Given the description of an element on the screen output the (x, y) to click on. 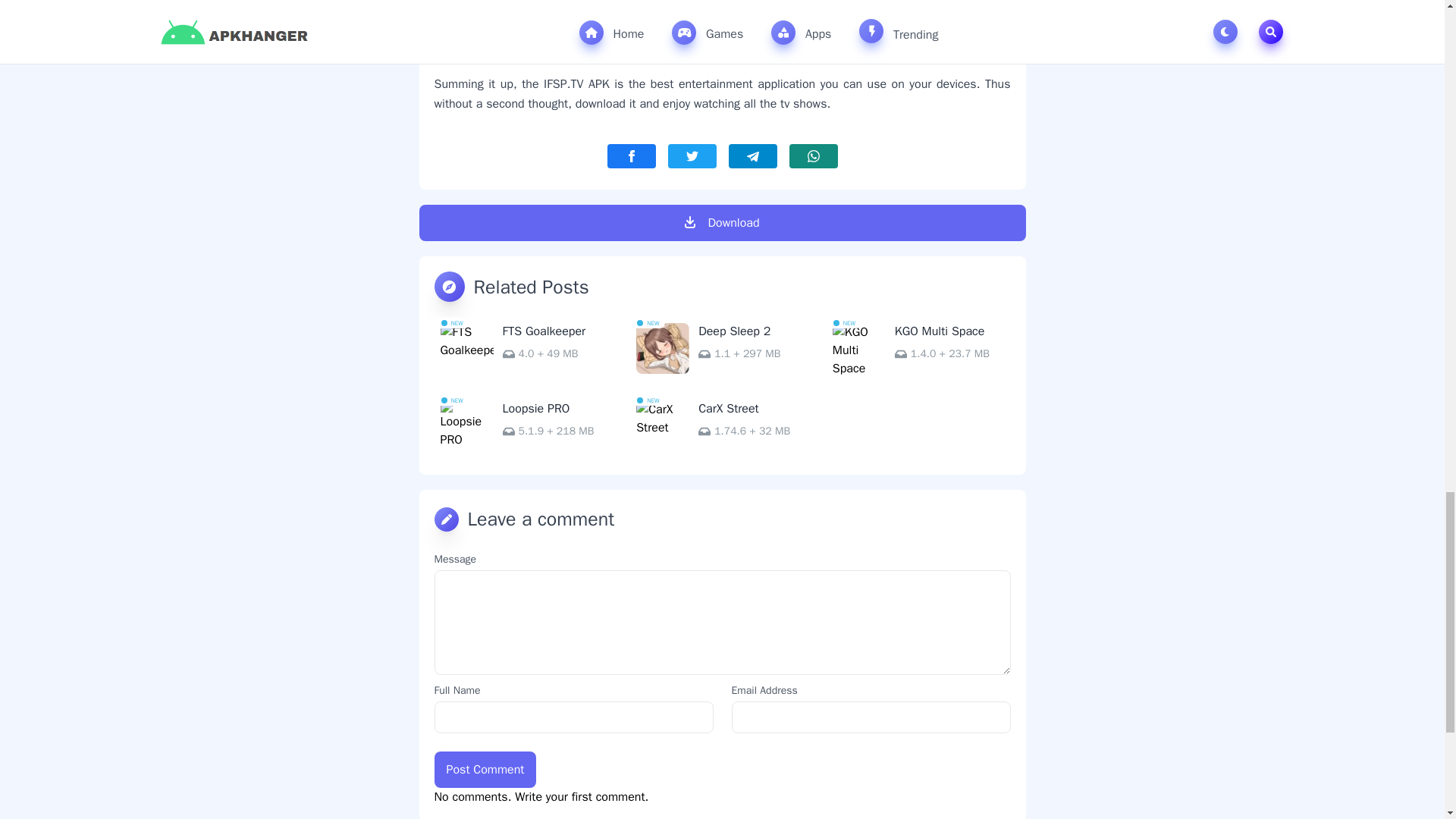
Post Comment (484, 769)
Download (722, 222)
CarX Street (721, 426)
Share on WhatsApp (813, 156)
Share on Telegram (752, 156)
Deep Sleep 2 (721, 348)
Share on Facebook (631, 156)
Share on Twitter (691, 156)
Loopsie PRO (525, 426)
KGO Multi Space (918, 348)
